Given the description of an element on the screen output the (x, y) to click on. 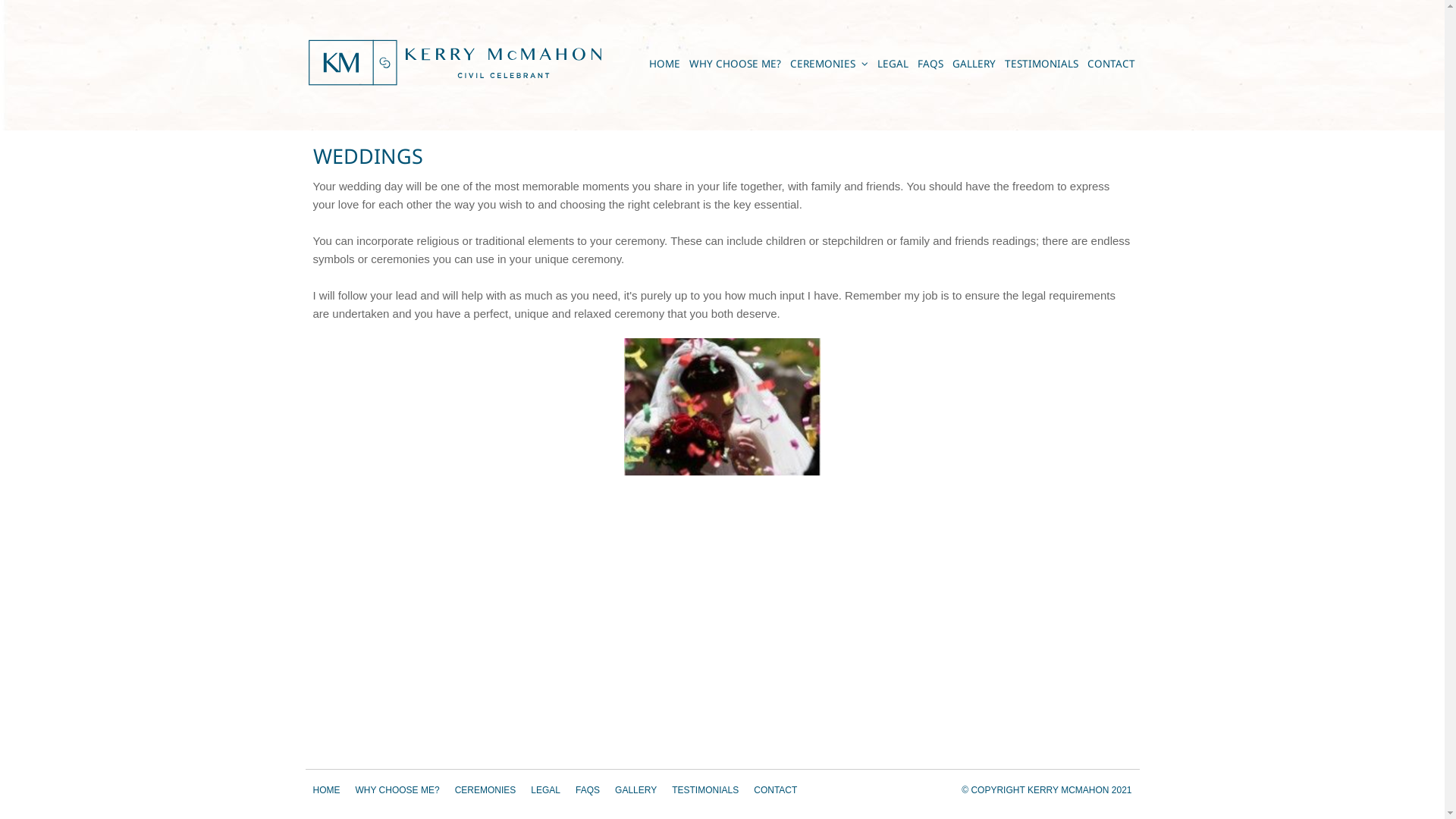
HOME Element type: text (325, 790)
FAQS Element type: text (587, 790)
TESTIMONIALS Element type: text (705, 790)
TESTIMONIALS Element type: text (1040, 63)
HOME Element type: text (664, 63)
WHY CHOOSE ME? Element type: text (396, 790)
LEGAL Element type: text (545, 790)
CEREMONIES Element type: text (828, 63)
GALLERY Element type: text (973, 63)
LEGAL Element type: text (892, 63)
CONTACT Element type: text (1110, 63)
WHY CHOOSE ME? Element type: text (734, 63)
GALLERY Element type: text (635, 790)
CONTACT Element type: text (775, 790)
CEREMONIES Element type: text (485, 790)
FAQS Element type: text (930, 63)
